Given the description of an element on the screen output the (x, y) to click on. 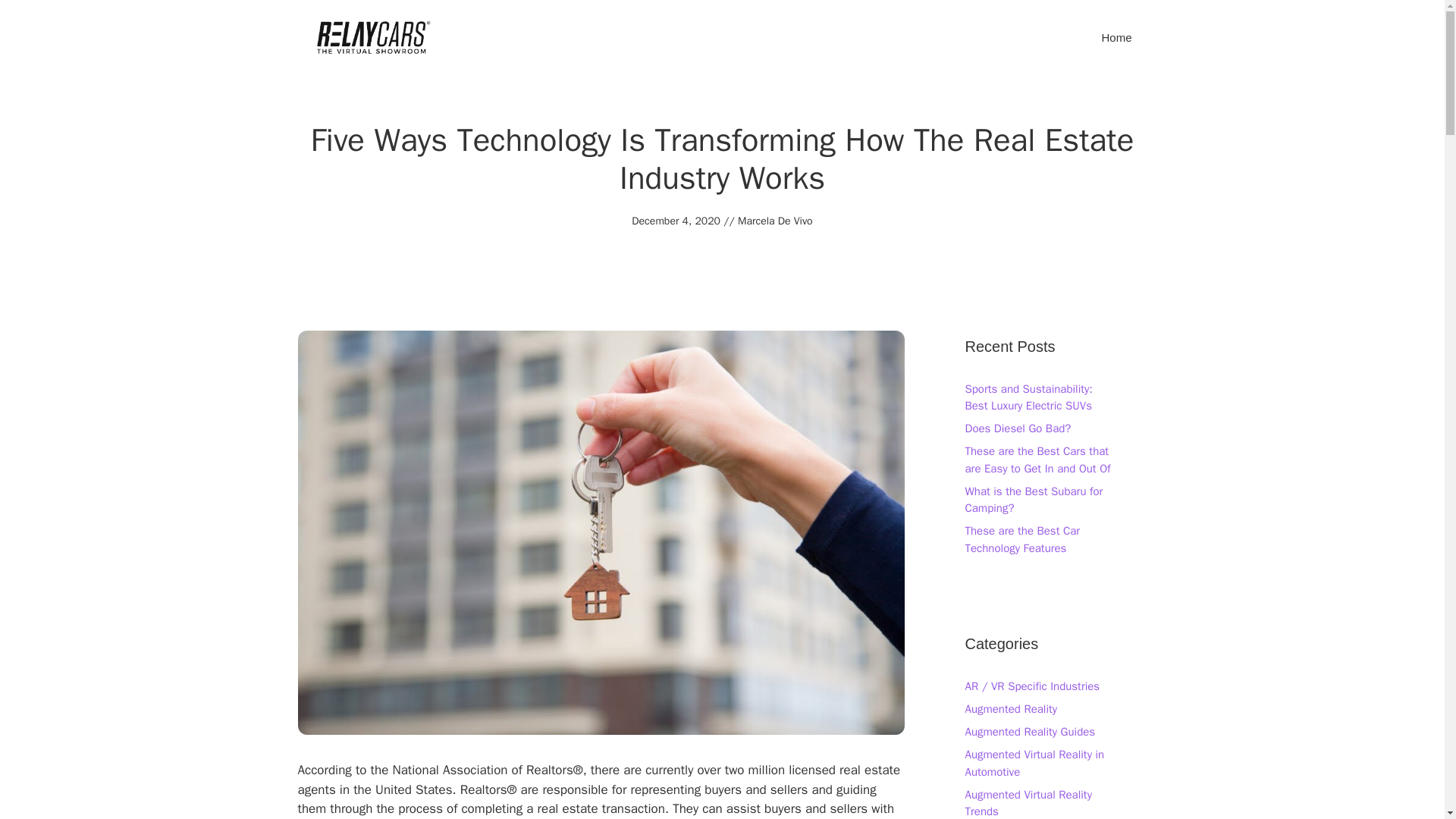
Augmented Virtual Reality in Automotive (1033, 762)
Augmented Reality (1010, 708)
These are the Best Car Technology Features (1021, 539)
These are the Best Cars that are Easy to Get In and Out Of (1036, 459)
Does Diesel Go Bad? (1016, 427)
What is the Best Subaru for Camping? (1032, 499)
Home (1116, 37)
Augmented Reality Guides (1028, 731)
over two million licensed real estate agents (598, 779)
View all posts by Marcela De Vivo (775, 220)
Augmented Virtual Reality Trends (1026, 803)
Marcela De Vivo (775, 220)
Sports and Sustainability: Best Luxury Electric SUVs (1027, 397)
